Given the description of an element on the screen output the (x, y) to click on. 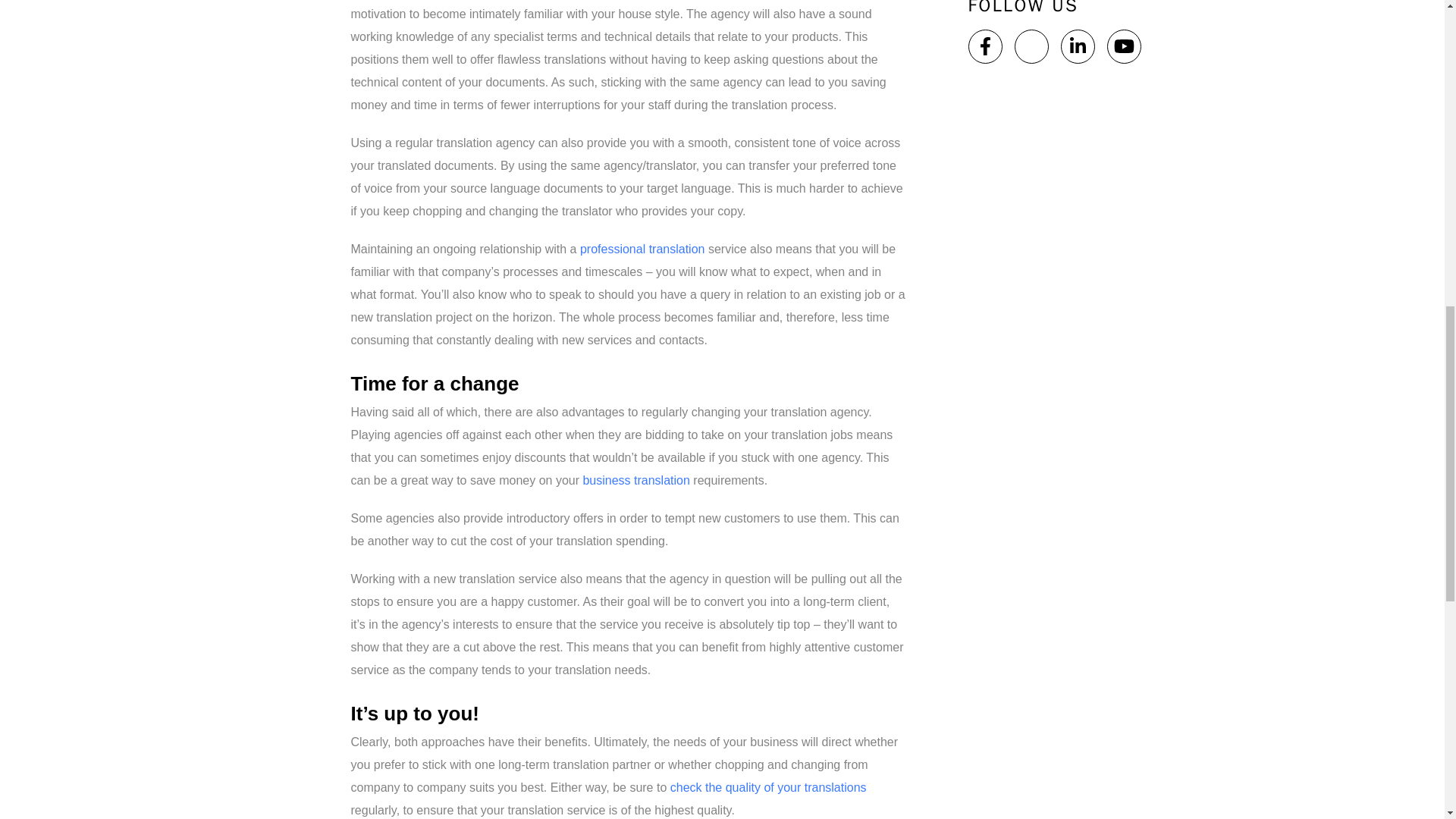
business translation (635, 480)
professional translation (641, 248)
check the quality of your translations (767, 787)
